Given the description of an element on the screen output the (x, y) to click on. 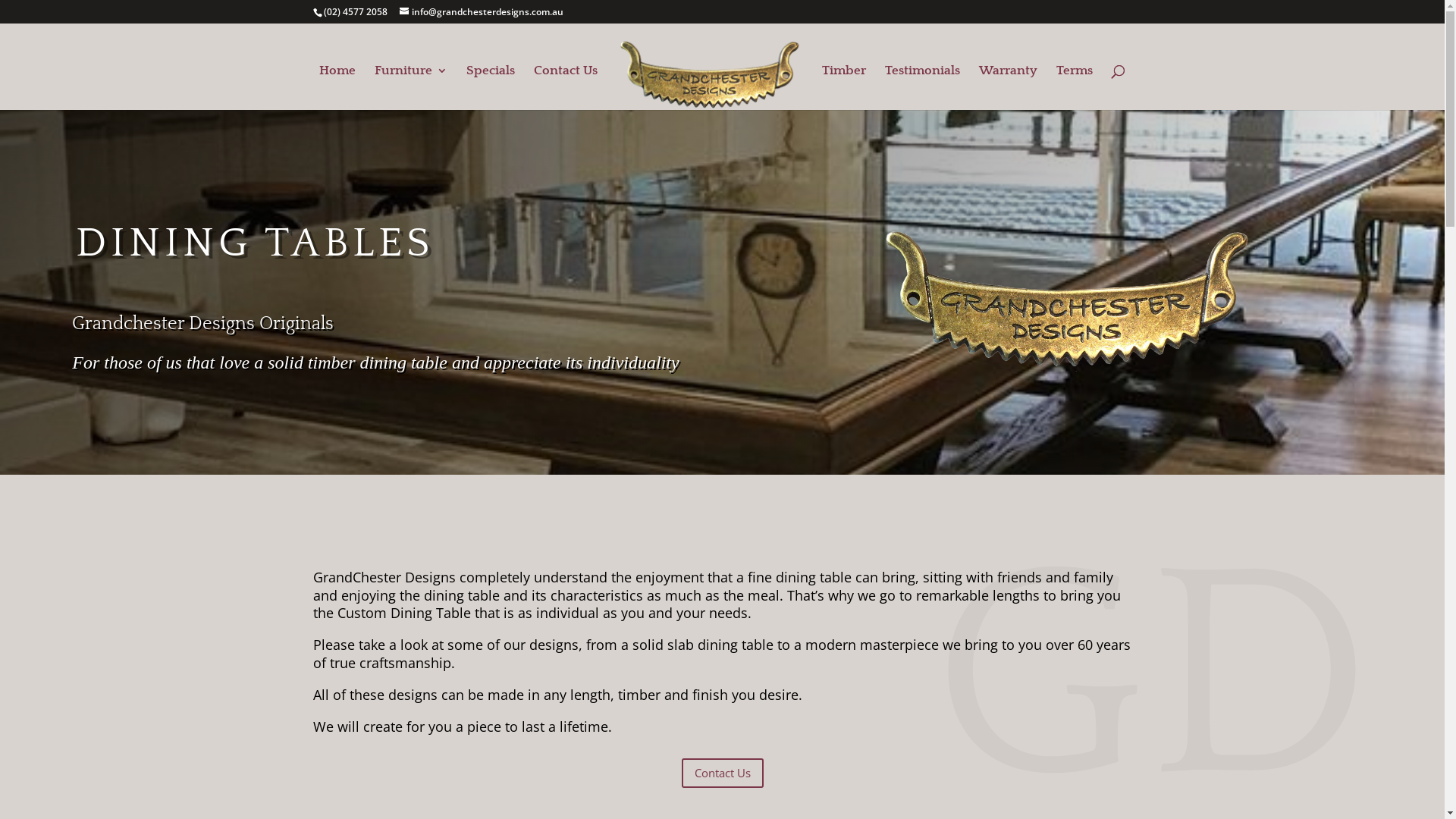
Timber Element type: text (844, 87)
Specials Element type: text (490, 87)
Testimonials Element type: text (922, 87)
Warranty Element type: text (1008, 87)
Furniture Element type: text (410, 87)
Home Element type: text (337, 87)
Terms Element type: text (1074, 87)
Contact Us Element type: text (721, 772)
Contact Us Element type: text (565, 87)
info@grandchesterdesigns.com.au Element type: text (480, 11)
